Given the description of an element on the screen output the (x, y) to click on. 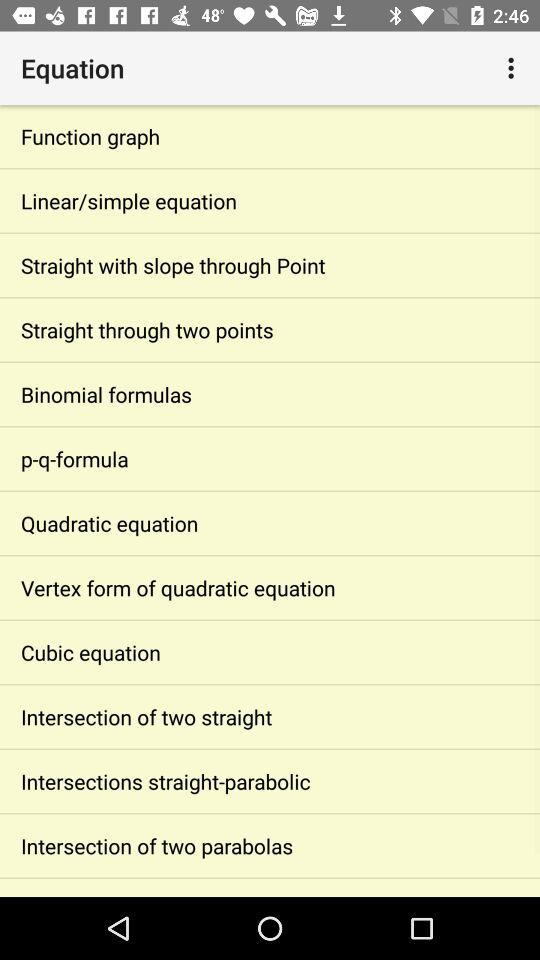
click the item above cubic equation icon (270, 587)
